Given the description of an element on the screen output the (x, y) to click on. 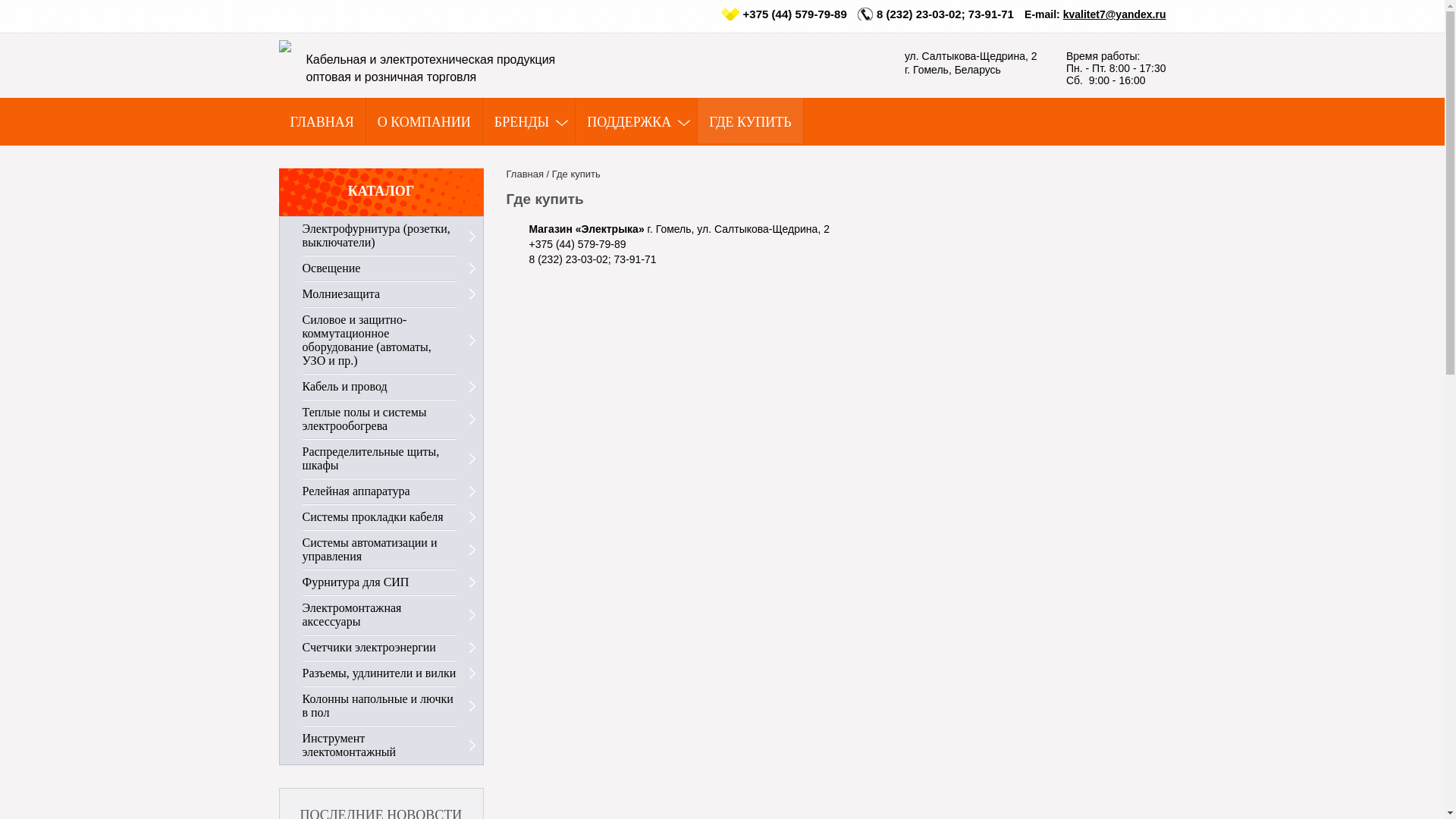
kvalitet7@yandex.ru Element type: text (1114, 14)
